Given the description of an element on the screen output the (x, y) to click on. 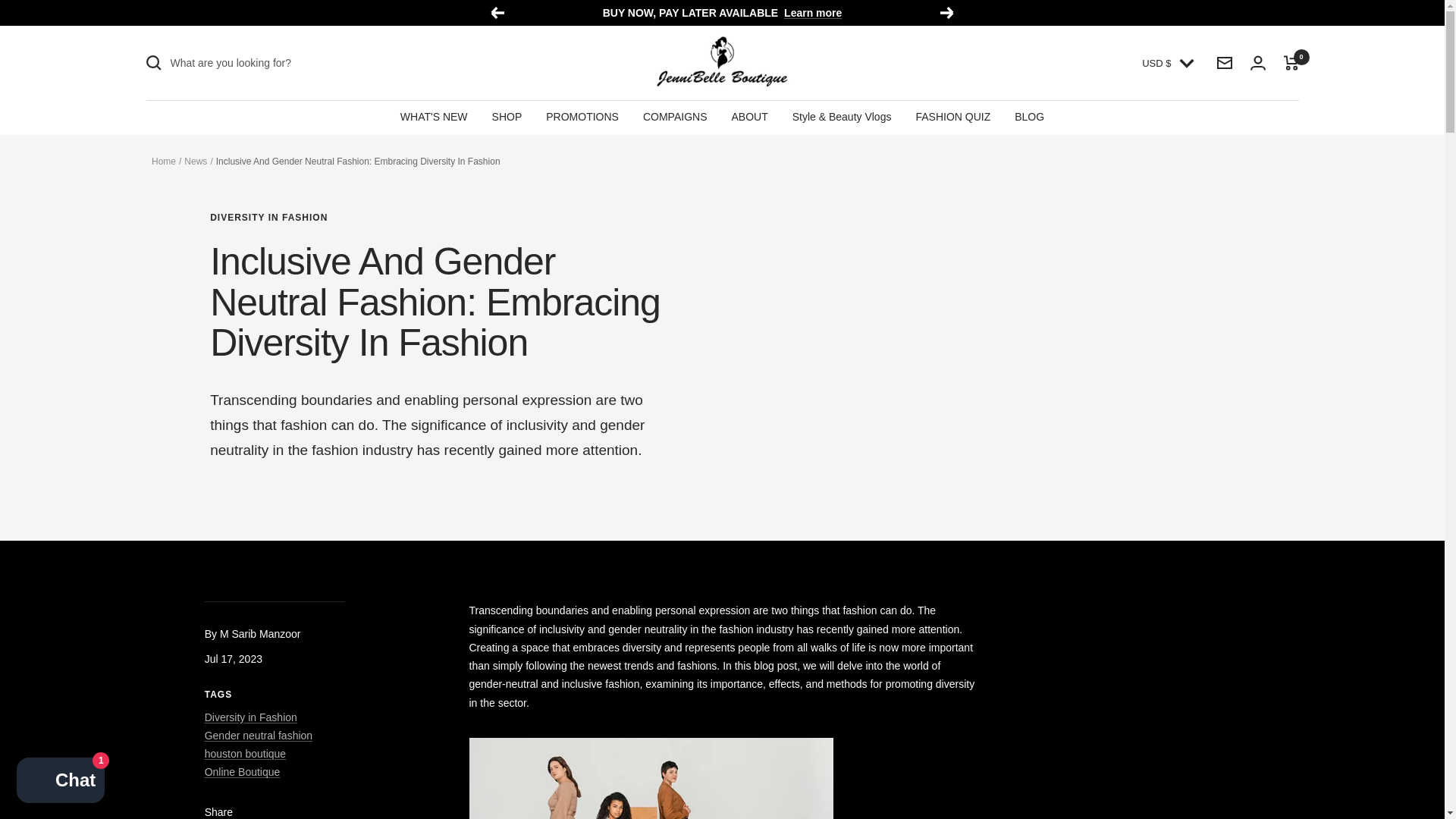
Previous (496, 12)
DIVERSITY IN FASHION (438, 217)
COMPAIGNS (675, 116)
Learn more (812, 13)
Home (163, 161)
PROMOTIONS (582, 116)
News (195, 161)
Gender neutral fashion (259, 735)
Online Boutique (243, 771)
Shopify online store chat (60, 781)
0 (1290, 62)
USD (1165, 137)
BLOG (1028, 116)
SHOP (507, 116)
Next (947, 12)
